Given the description of an element on the screen output the (x, y) to click on. 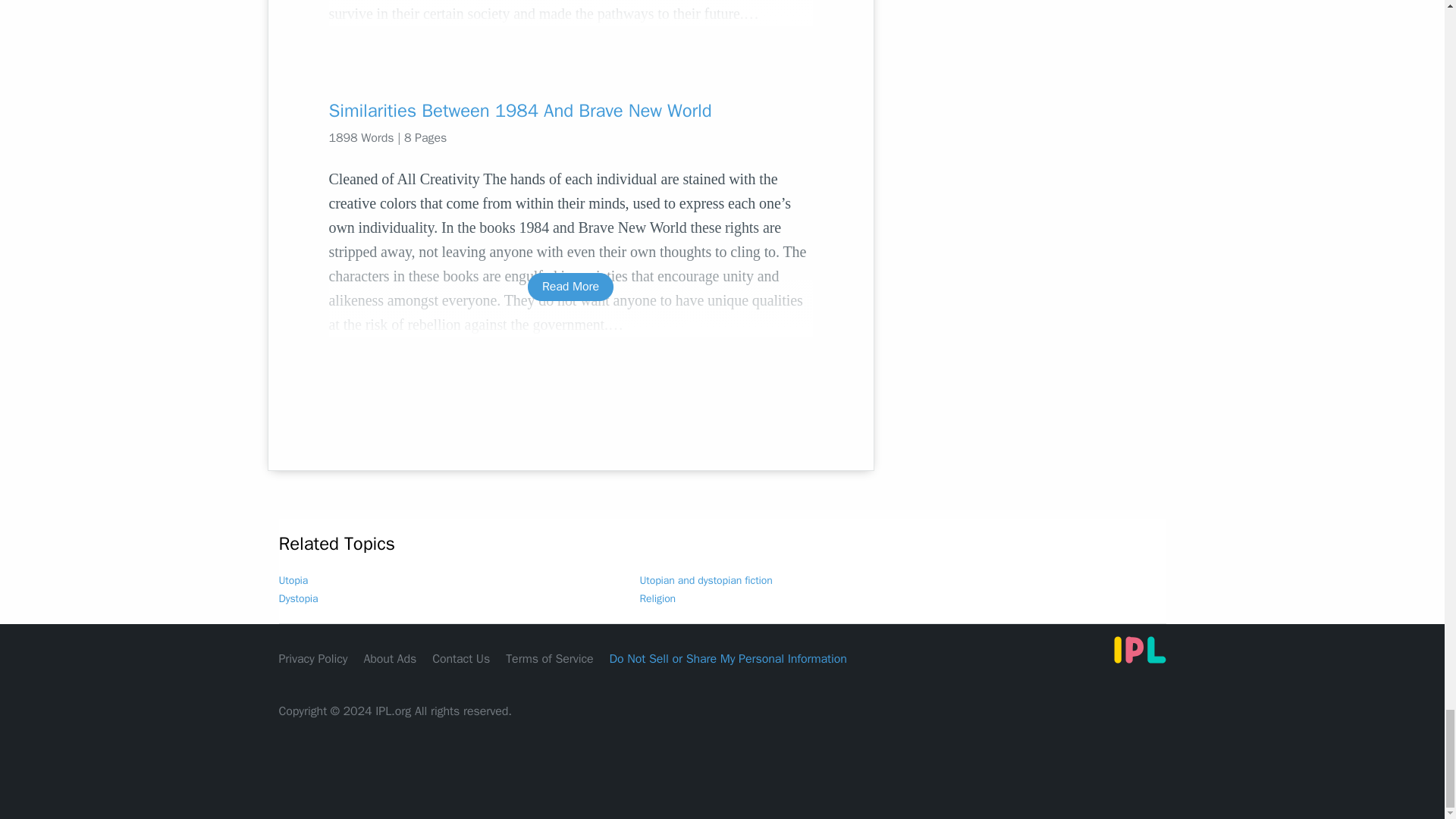
Utopia (293, 580)
About Ads (389, 658)
Utopian and dystopian fiction (706, 580)
Religion (658, 598)
Terms of Service (548, 658)
Dystopia (298, 598)
Contact Us (460, 658)
Privacy Policy (313, 658)
